Given the description of an element on the screen output the (x, y) to click on. 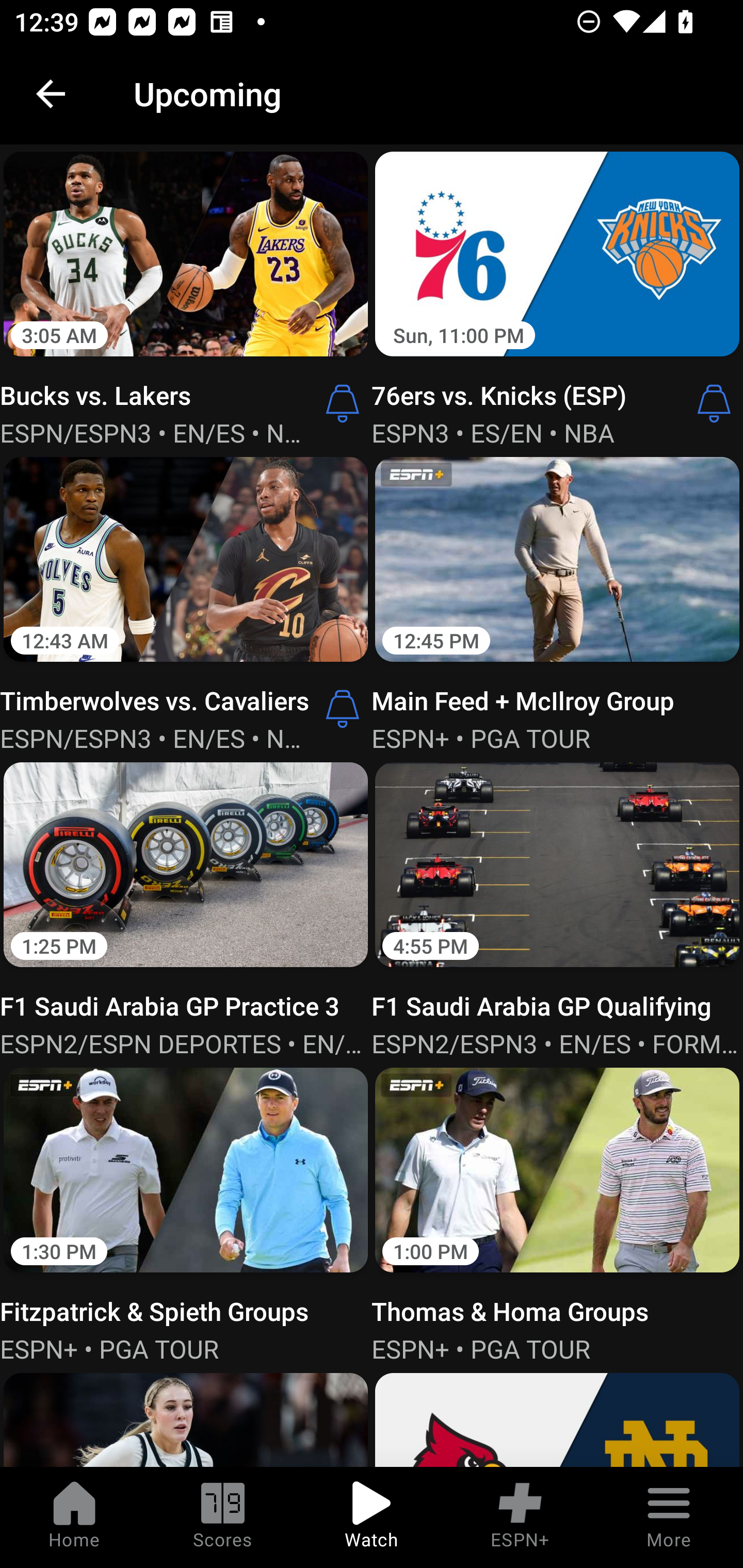
Alerts (342, 403)
Alerts (714, 403)
Alerts (342, 708)
1:00 PM Thomas & Homa Groups ESPN+ • PGA TOUR (557, 1212)
Home (74, 1517)
Scores (222, 1517)
ESPN+ (519, 1517)
More (668, 1517)
